Given the description of an element on the screen output the (x, y) to click on. 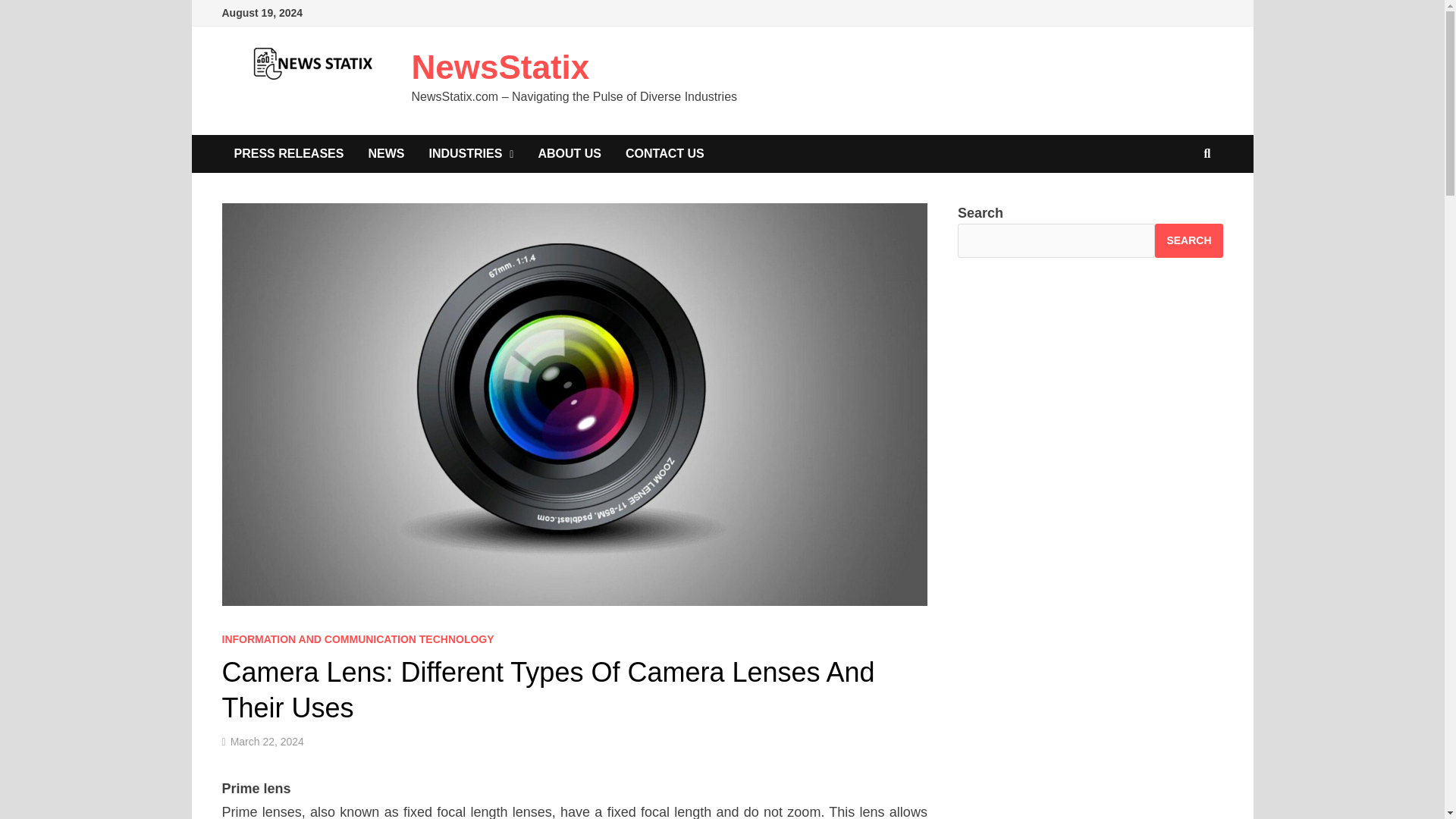
INDUSTRIES (470, 153)
CONTACT US (664, 153)
NEWS (385, 153)
ABOUT US (568, 153)
PRESS RELEASES (288, 153)
NewsStatix (499, 66)
